Given the description of an element on the screen output the (x, y) to click on. 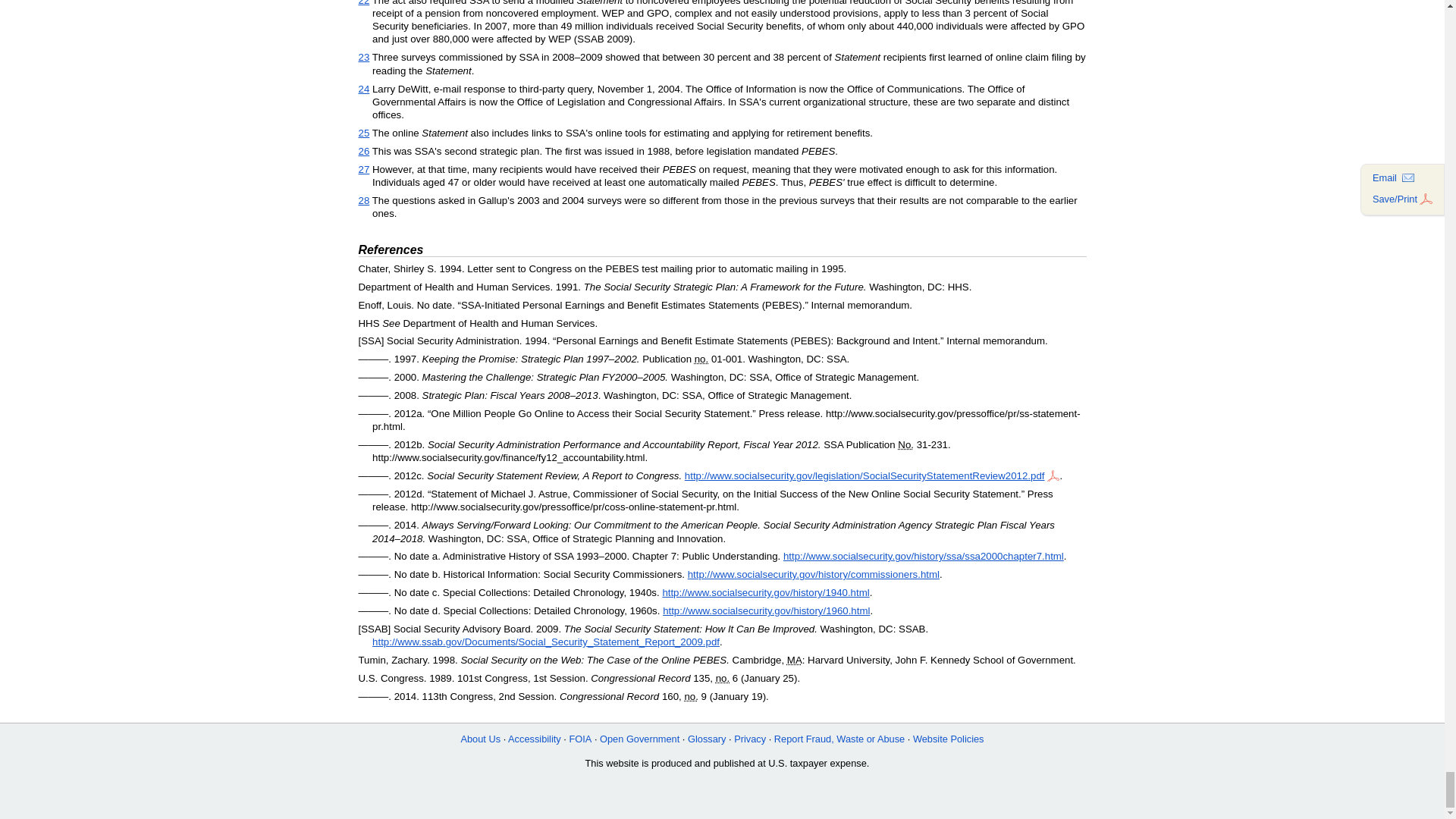
Number (906, 444)
number (700, 358)
number (722, 677)
number (690, 696)
Massachusetts (794, 659)
